Given the description of an element on the screen output the (x, y) to click on. 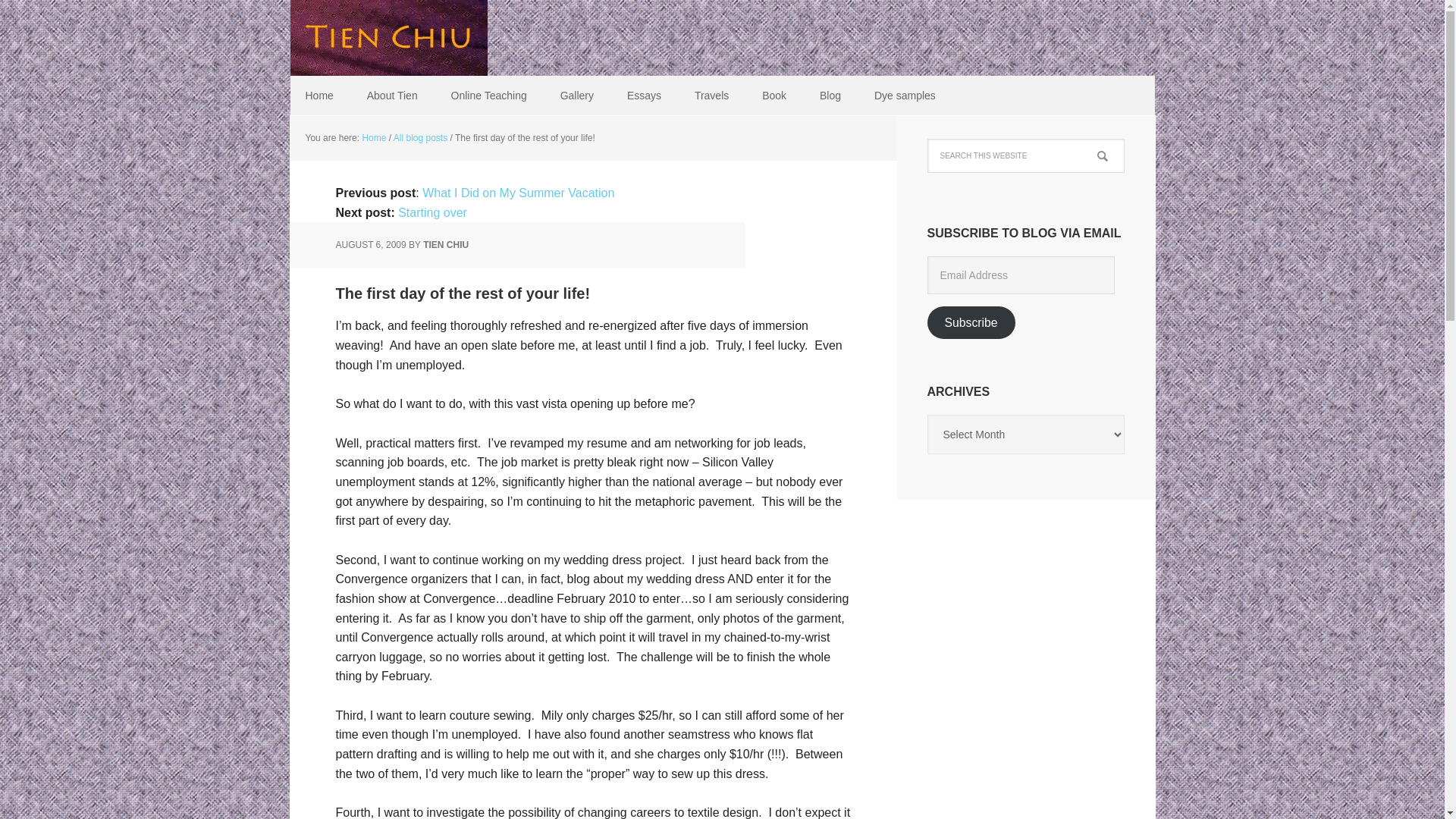
About Tien (392, 96)
Book (774, 96)
Subscribe (970, 322)
Starting over (432, 212)
Home (318, 96)
Tien Chiu (387, 38)
TIEN CHIU (445, 244)
